Given the description of an element on the screen output the (x, y) to click on. 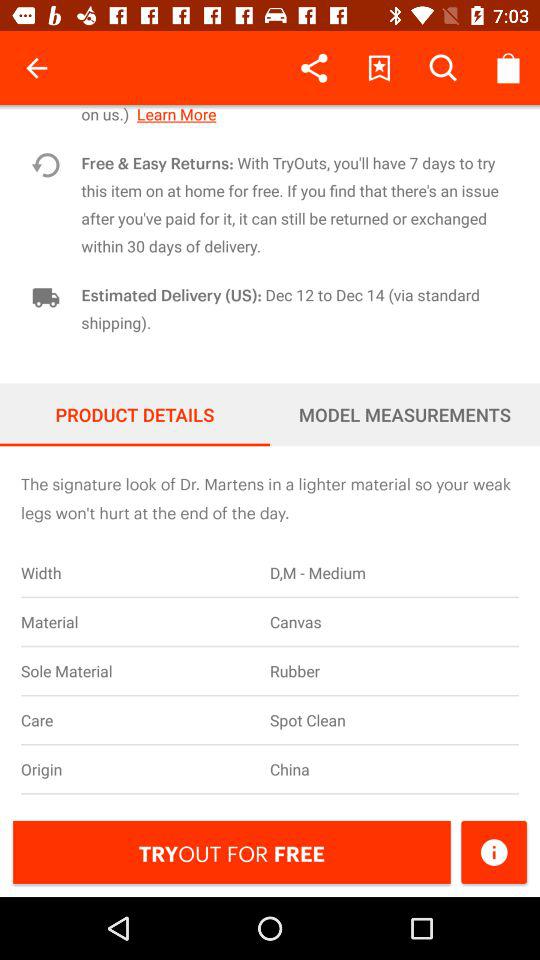
open item to the left of the how tryouts work icon (36, 68)
